Given the description of an element on the screen output the (x, y) to click on. 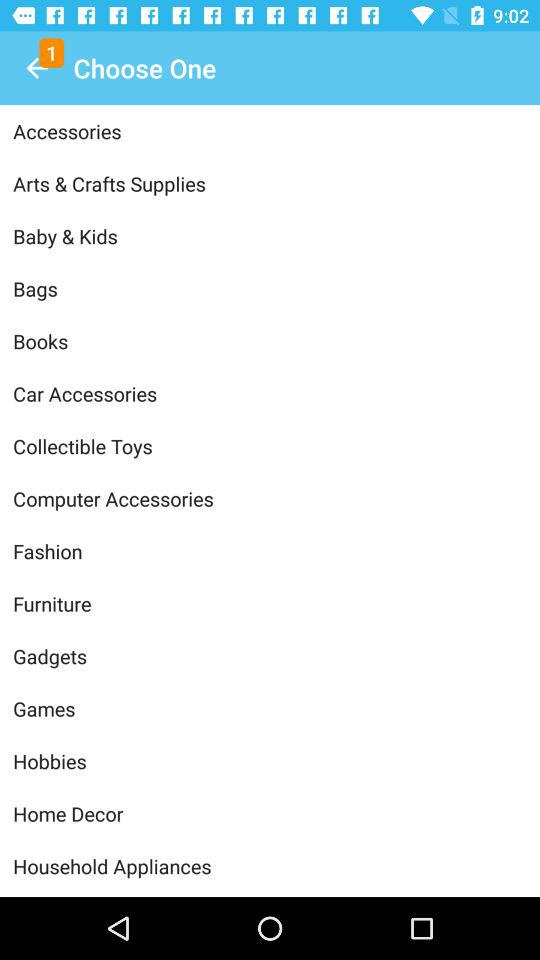
tap household appliances (269, 866)
